Given the description of an element on the screen output the (x, y) to click on. 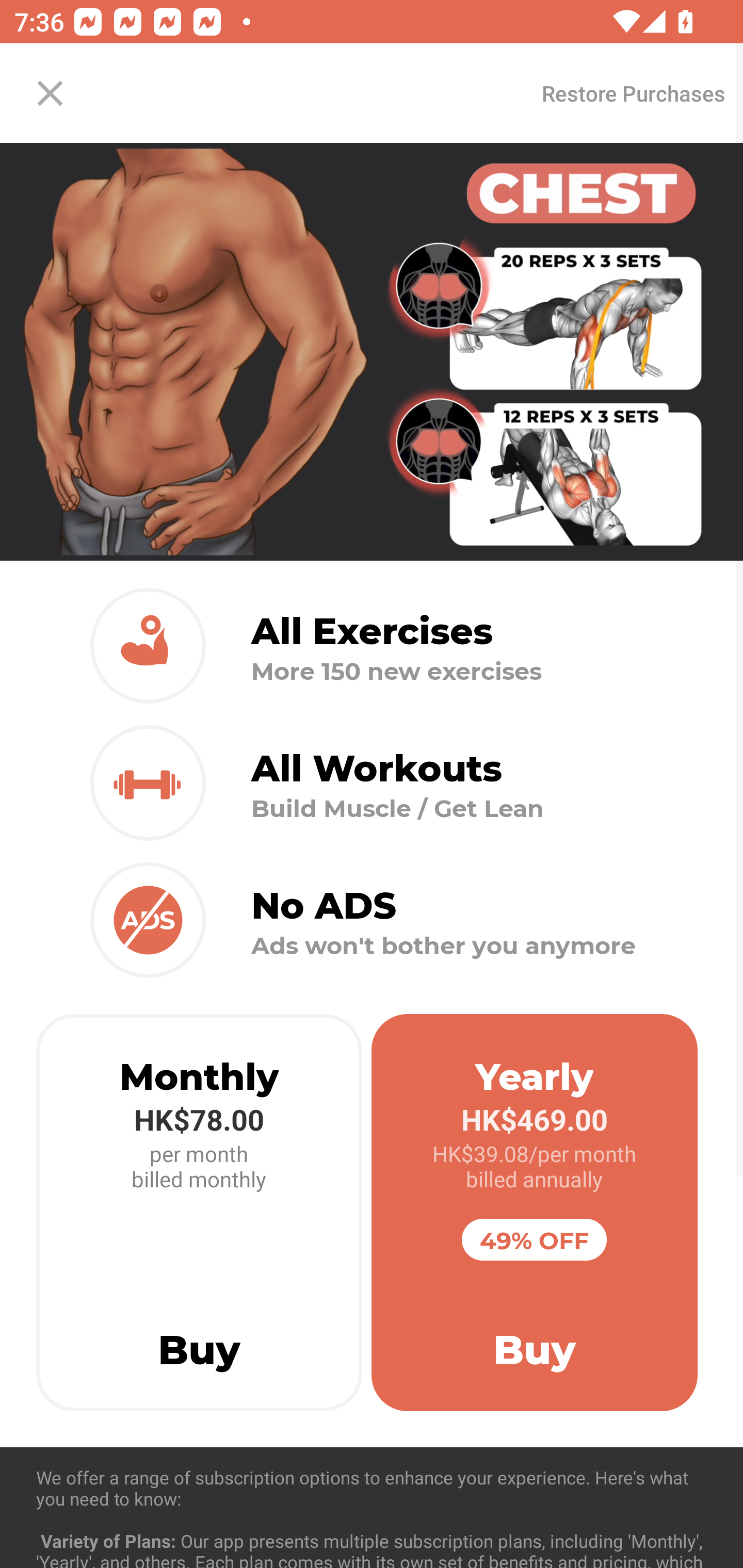
Restore Purchases (632, 92)
Monthly HK$78.00 per month
billed monthly Buy (199, 1212)
